Given the description of an element on the screen output the (x, y) to click on. 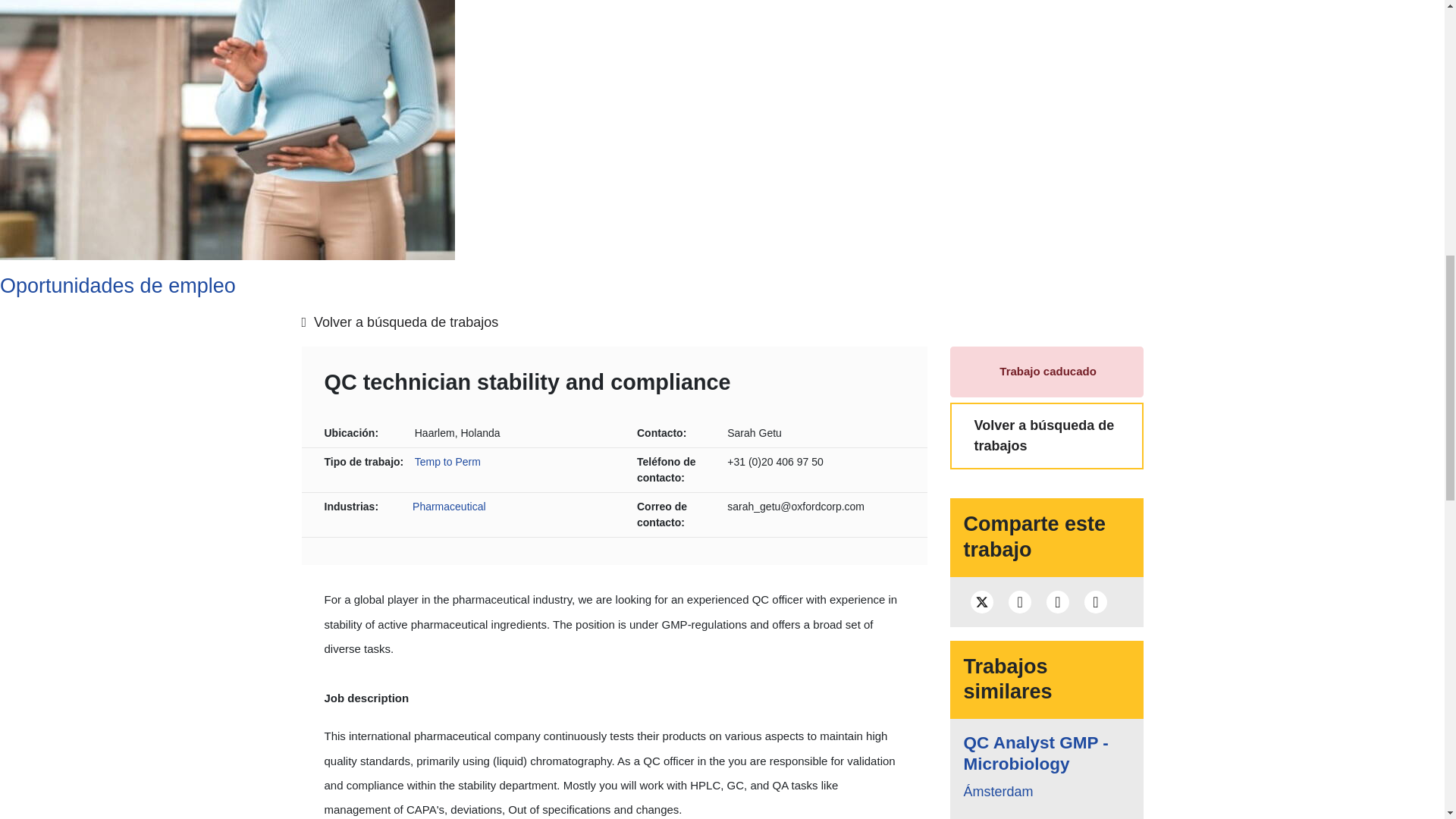
Email (1095, 601)
Facebook (1019, 601)
LinkedIn (1057, 601)
Twitter (981, 601)
